Given the description of an element on the screen output the (x, y) to click on. 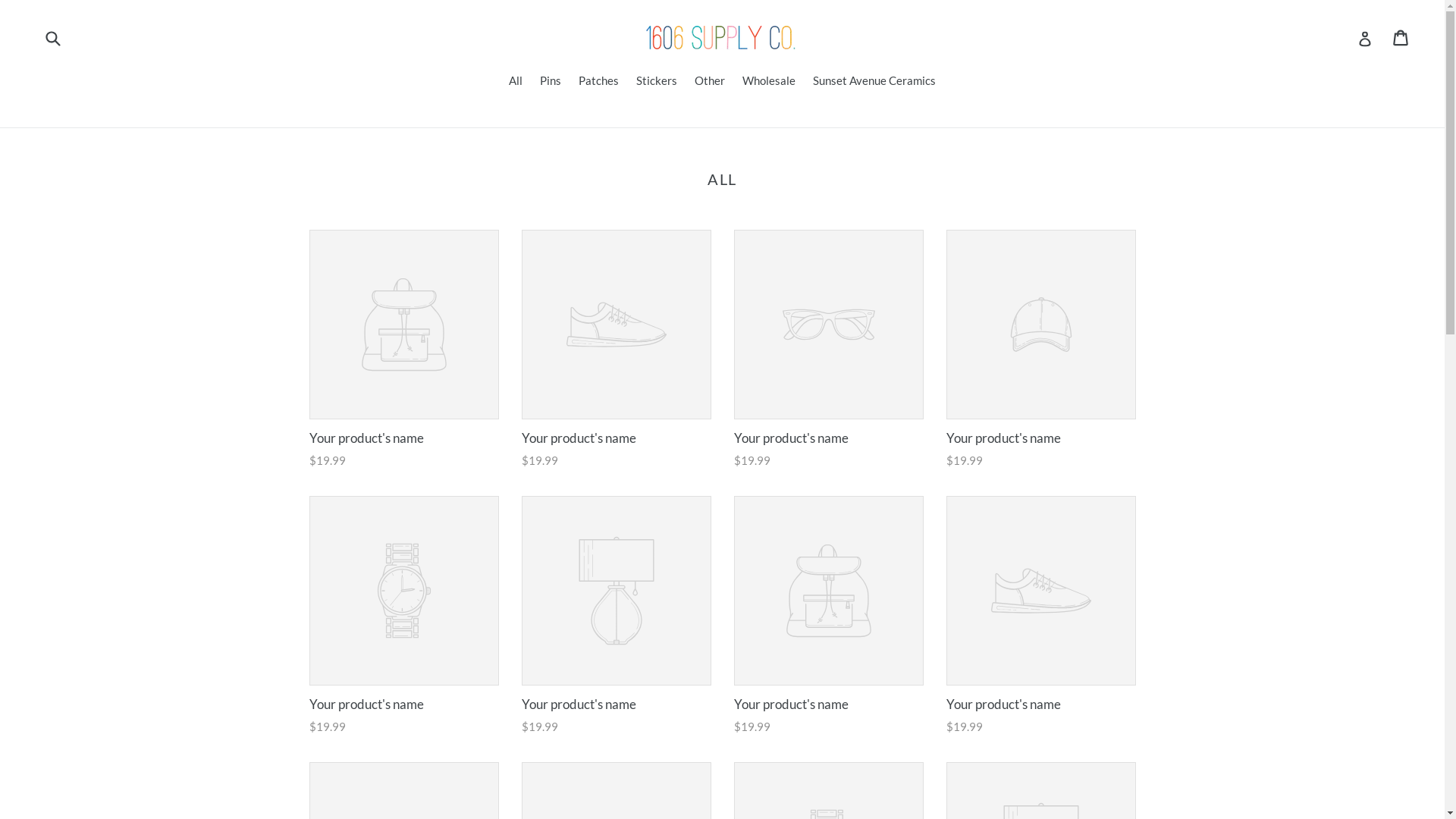
Your product's name
Regular price
$19.99 Element type: text (403, 615)
All Element type: text (515, 81)
Your product's name
Regular price
$19.99 Element type: text (1040, 349)
Your product's name
Regular price
$19.99 Element type: text (616, 349)
Cart
Cart Element type: text (1401, 37)
Your product's name
Regular price
$19.99 Element type: text (403, 349)
Your product's name
Regular price
$19.99 Element type: text (828, 615)
Other Element type: text (709, 81)
Your product's name
Regular price
$19.99 Element type: text (616, 615)
Submit Element type: text (51, 37)
Patches Element type: text (598, 81)
Your product's name
Regular price
$19.99 Element type: text (1040, 615)
Your product's name
Regular price
$19.99 Element type: text (828, 349)
Pins Element type: text (550, 81)
Wholesale Element type: text (768, 81)
Stickers Element type: text (656, 81)
Sunset Avenue Ceramics Element type: text (874, 81)
Log in Element type: text (1364, 37)
